Given the description of an element on the screen output the (x, y) to click on. 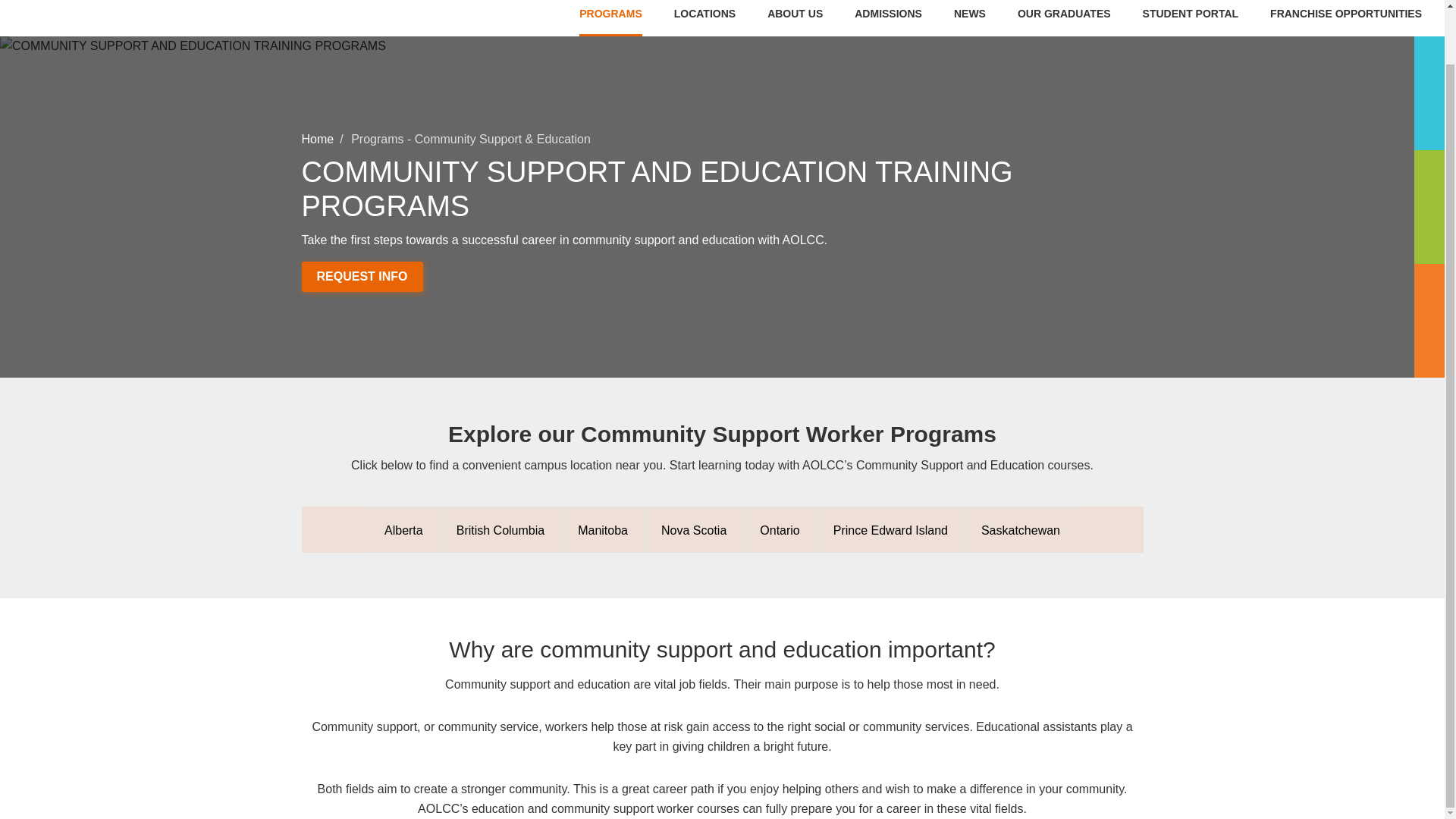
Academy of Learning (117, 4)
Locations (704, 20)
PROGRAMS (610, 20)
LOCATIONS (704, 20)
